Given the description of an element on the screen output the (x, y) to click on. 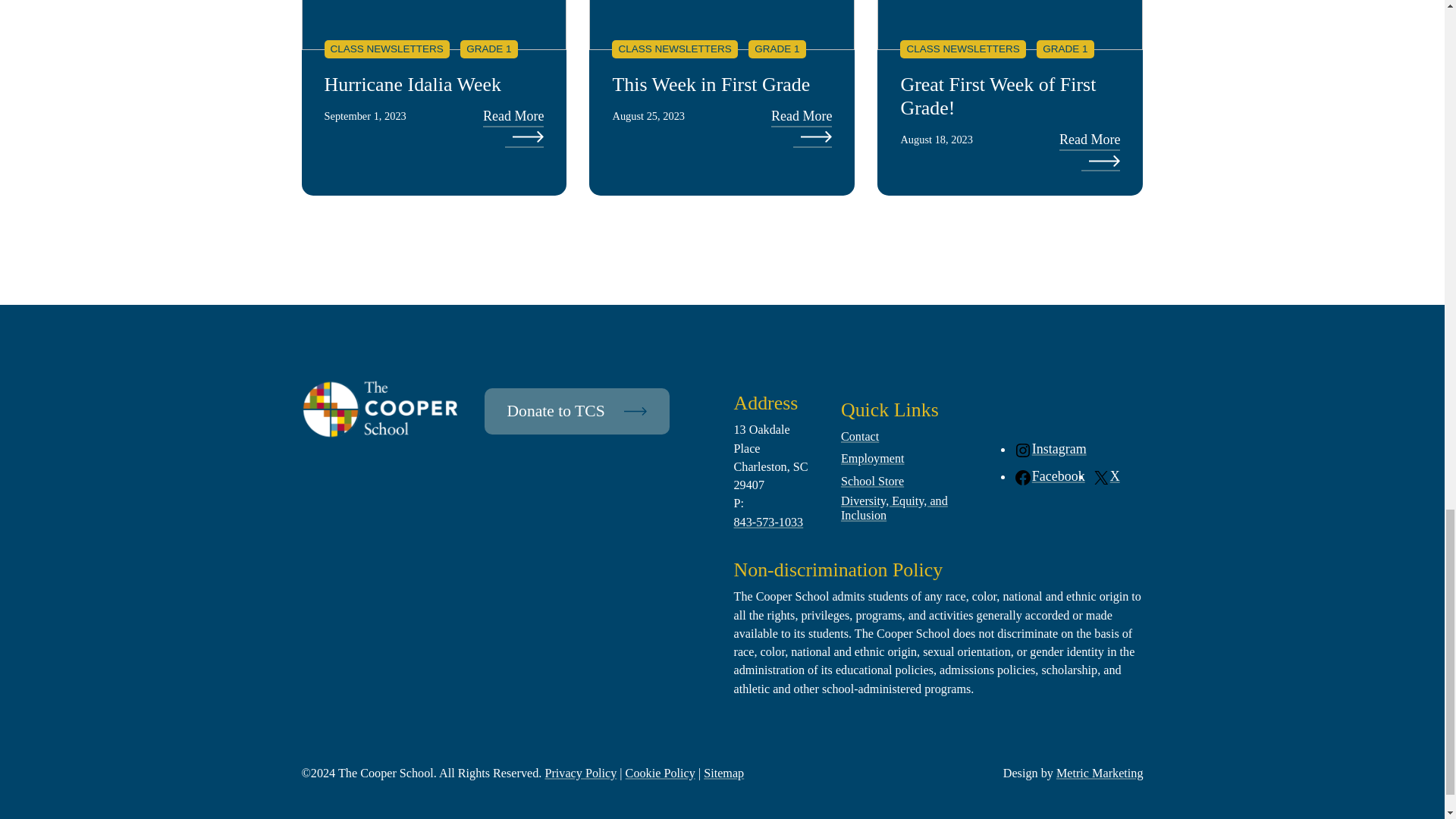
Privacy Policy  (579, 773)
Cookie Policy  (660, 773)
